Given the description of an element on the screen output the (x, y) to click on. 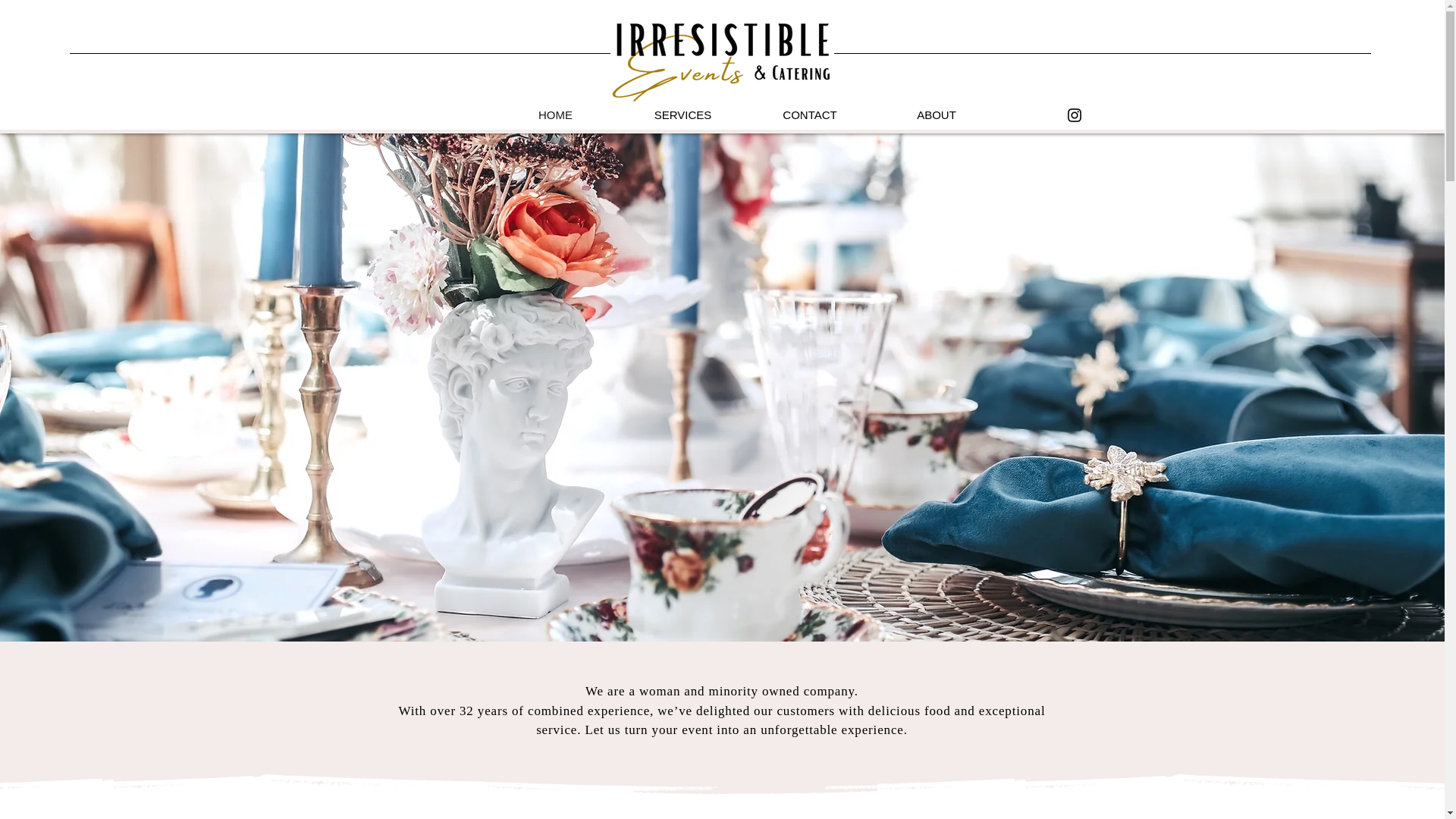
ABOUT (936, 114)
SERVICES (681, 114)
CONTACT (808, 114)
HOME (555, 114)
